Given the description of an element on the screen output the (x, y) to click on. 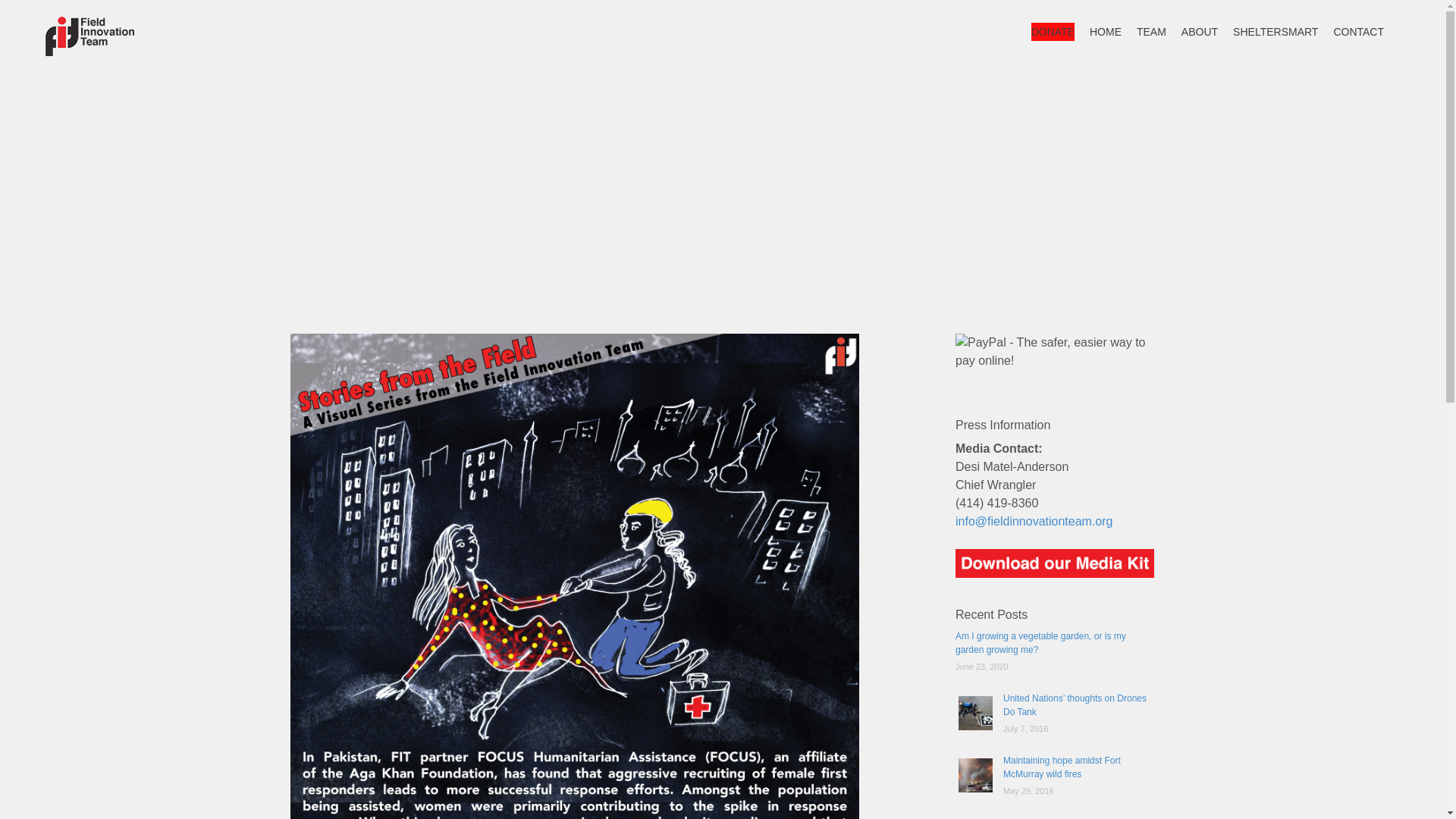
FIT and Fortune Magazine: Thin Air Summit (1074, 818)
Am I growing a vegetable garden, or is my garden growing me? (1040, 642)
SHELTERSMART (1275, 31)
CONTACT (1358, 31)
ABOUT (1198, 31)
DONATE (1052, 31)
Maintaining hope amidst Fort McMurray wild fires (1062, 767)
Permalink to FIT and Fortune Magazine: Thin Air Summit (1074, 818)
